Given the description of an element on the screen output the (x, y) to click on. 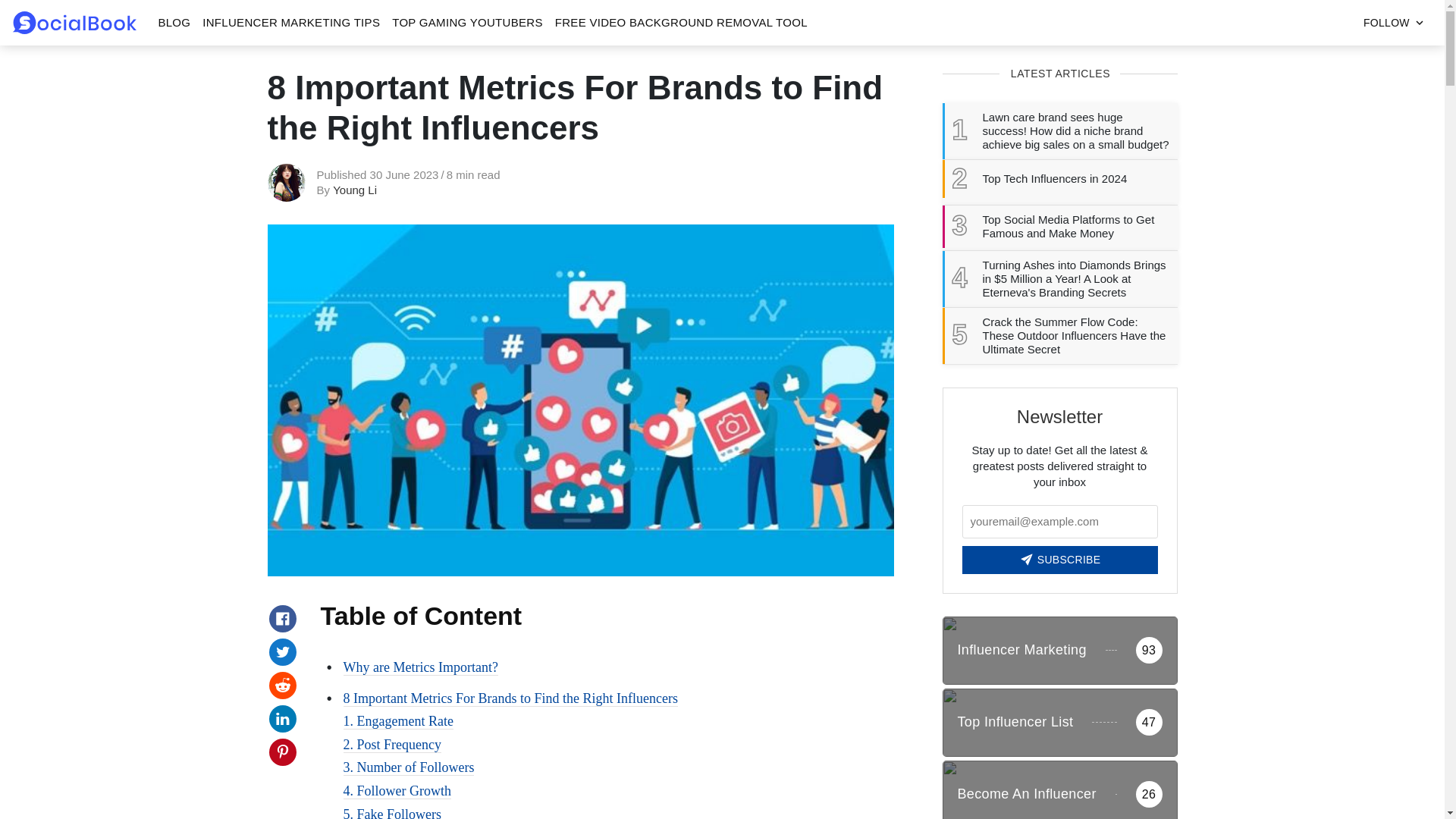
2. Post Frequency (391, 744)
Top Influencer List (1059, 722)
1. Engagement Rate (397, 721)
BLOG (173, 22)
TOP GAMING YOUTUBERS (466, 22)
Become An Influencer (1059, 789)
Why are Metrics Important? (419, 667)
5. Fake Followers (391, 812)
Young Li (355, 189)
3. Number of Followers (408, 767)
